Given the description of an element on the screen output the (x, y) to click on. 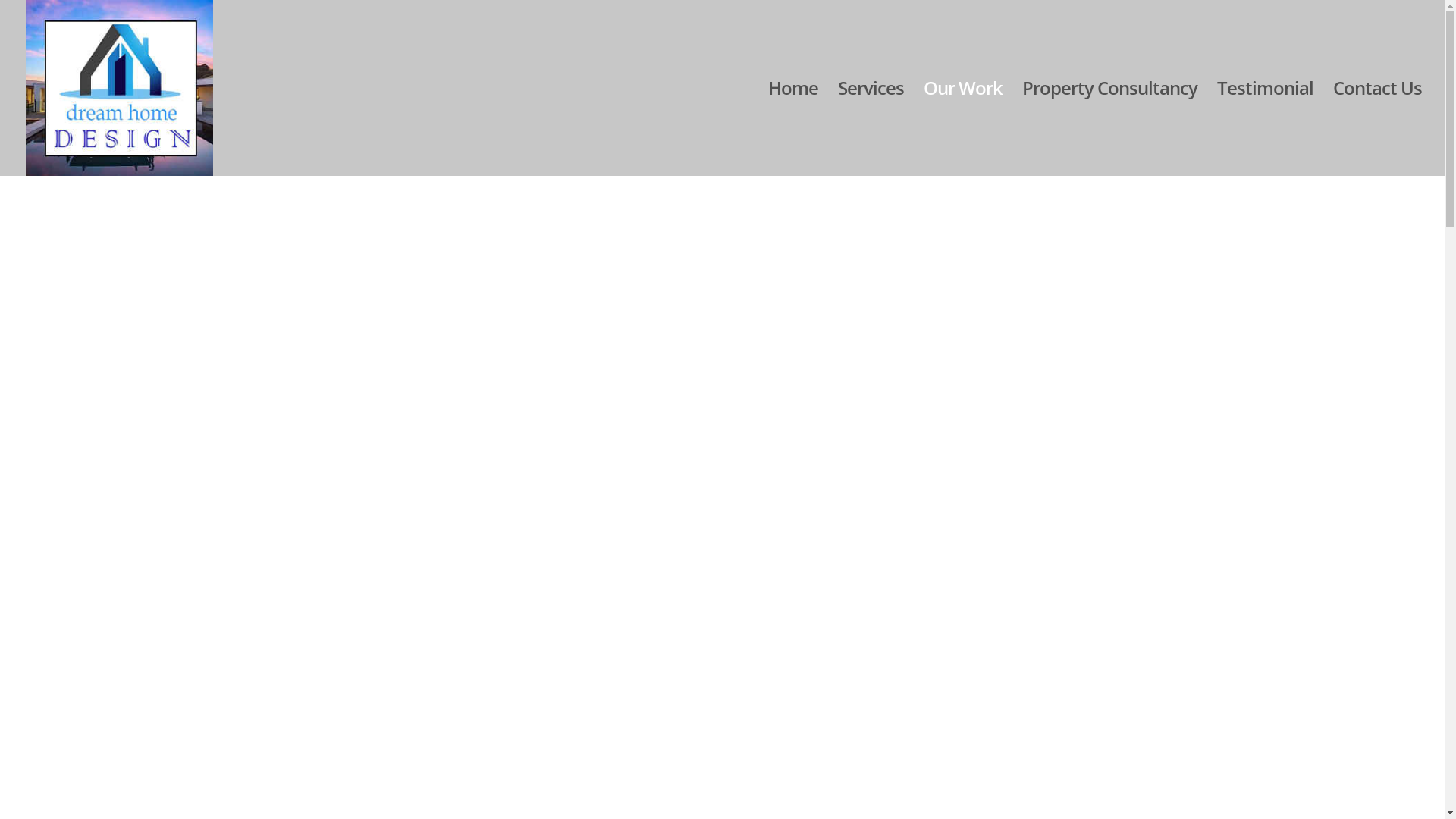
Contact Us Element type: text (1377, 128)
Our Work Element type: text (962, 128)
Home Element type: text (793, 128)
Property Consultancy Element type: text (1109, 128)
Testimonial Element type: text (1265, 128)
Services Element type: text (870, 128)
